Given the description of an element on the screen output the (x, y) to click on. 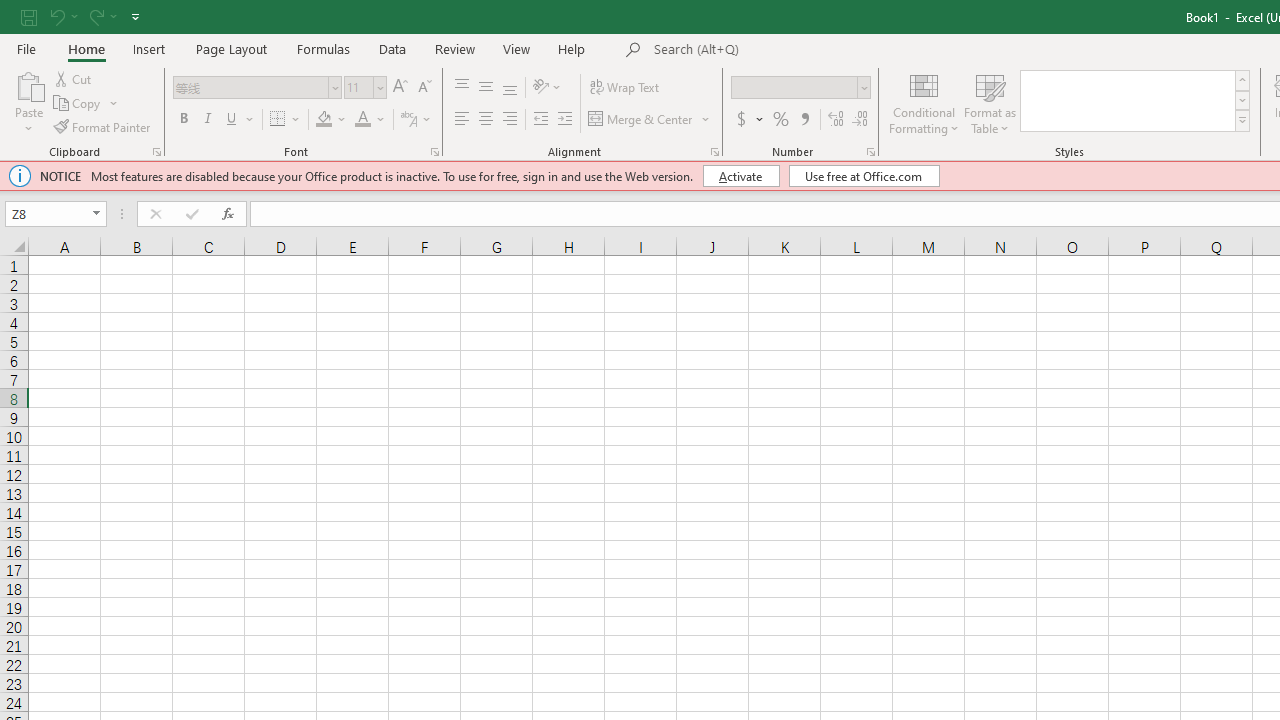
Bold (183, 119)
Office Clipboard... (156, 151)
Activate (740, 175)
Increase Font Size (399, 87)
Fill Color (324, 119)
Format Cell Alignment (714, 151)
Fill Color (331, 119)
Format as Table (990, 102)
